Given the description of an element on the screen output the (x, y) to click on. 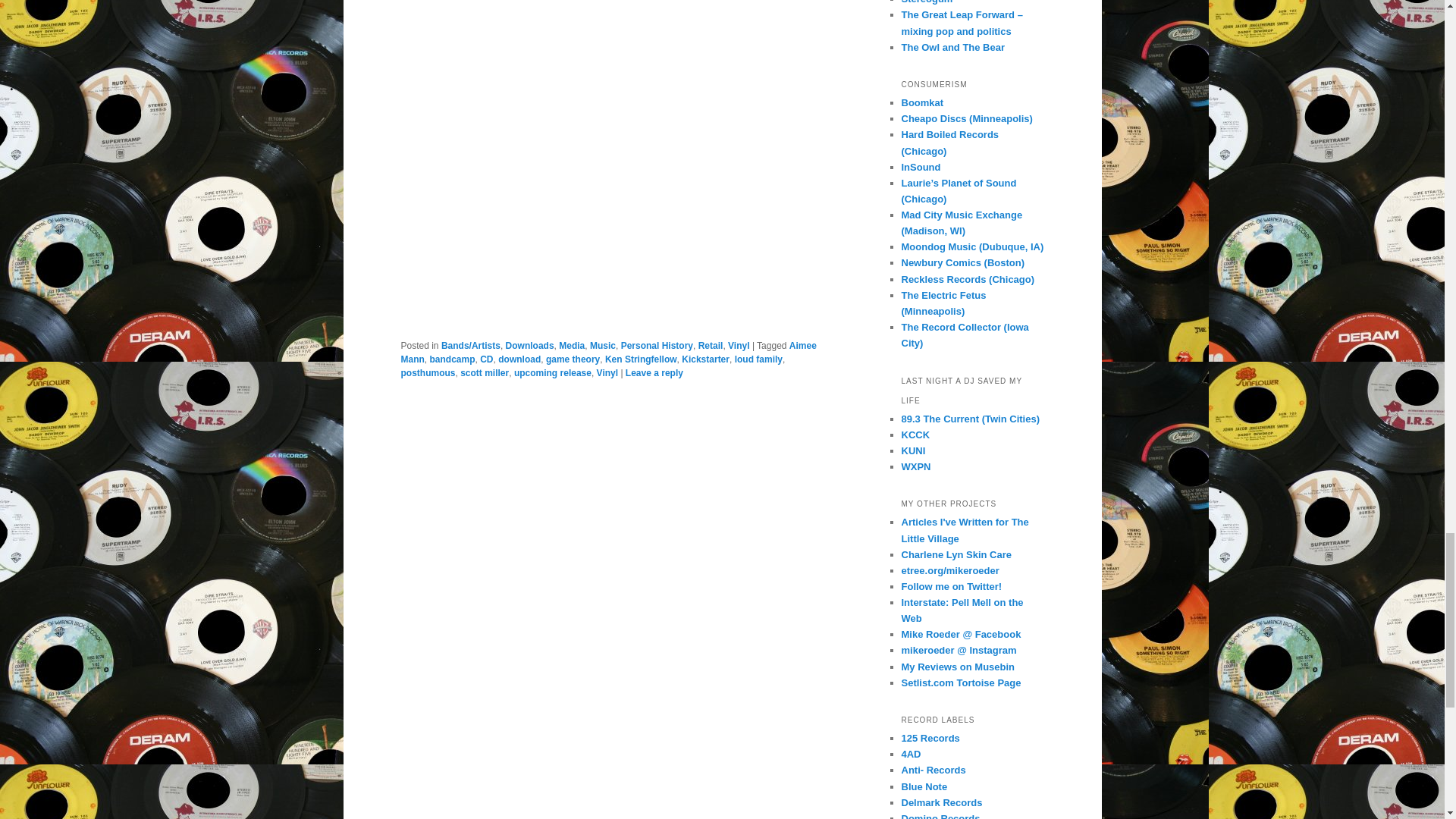
Downloads (529, 345)
Ken Stringfellow (641, 358)
Vinyl (738, 345)
CD (486, 358)
Music (602, 345)
Kickstarter (705, 358)
game theory (572, 358)
loud family (759, 358)
upcoming release (552, 372)
Retail (710, 345)
